Given the description of an element on the screen output the (x, y) to click on. 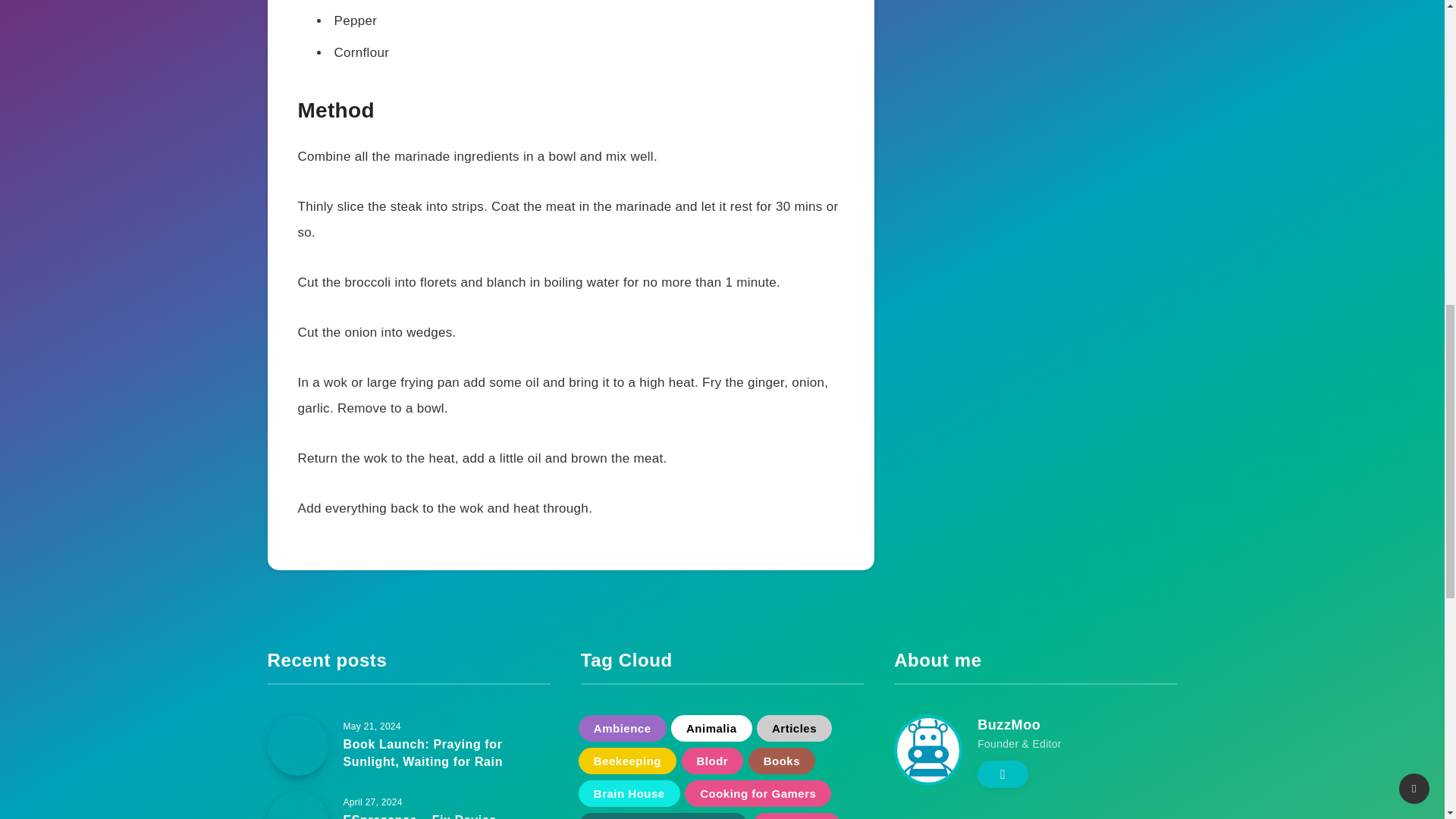
Articles (794, 728)
Brain House (628, 793)
Animalia (711, 728)
Cooking for Gamers (757, 793)
Books (781, 760)
Diamonds In The Rough (663, 816)
Blodr (711, 760)
Beekeeping (627, 760)
Book Launch: Praying for Sunlight, Waiting for Rain (422, 754)
Ambience (622, 728)
Education (796, 816)
